Given the description of an element on the screen output the (x, y) to click on. 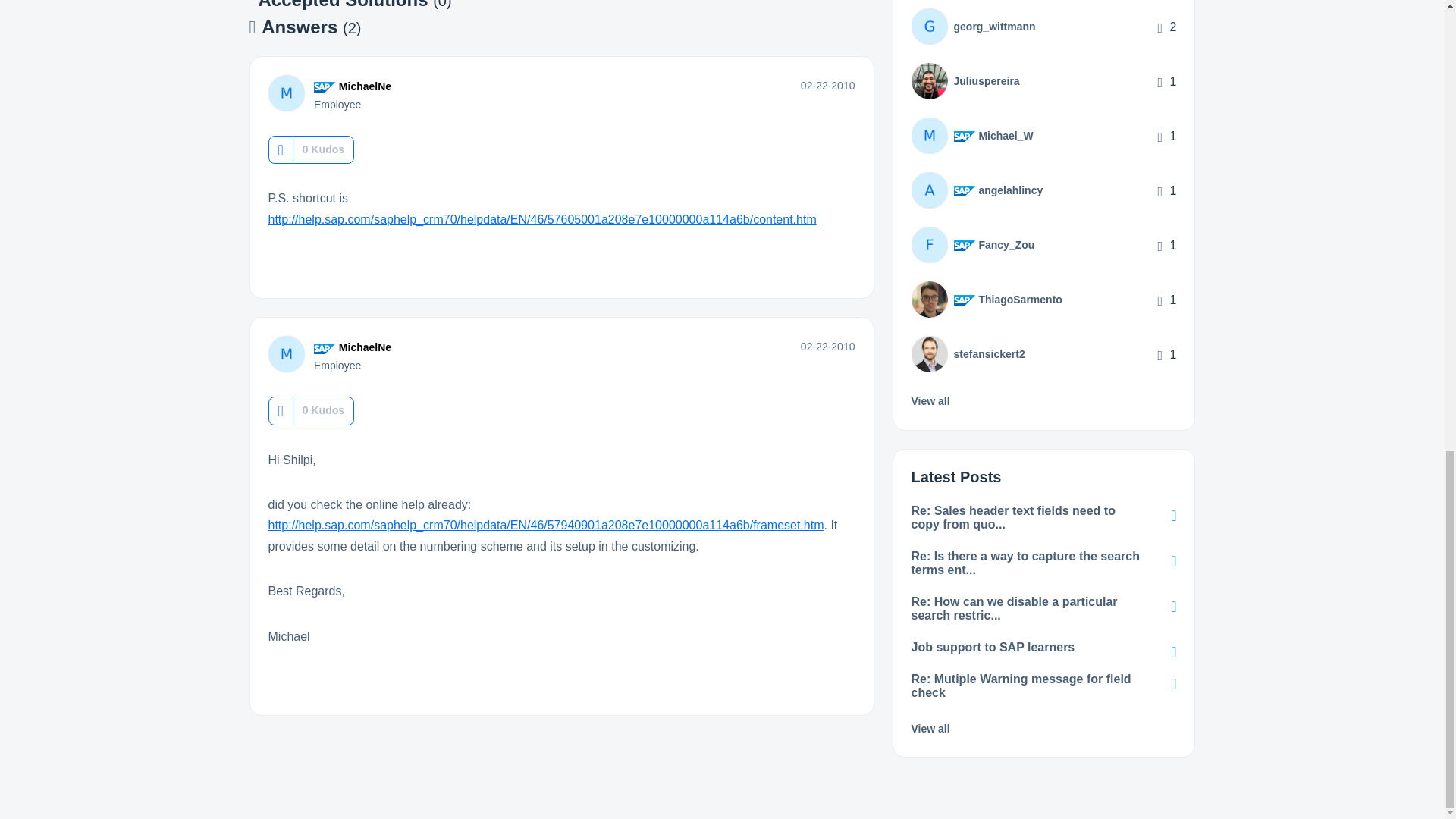
MichaelNe (285, 131)
Employee (325, 125)
MichaelNe (365, 124)
